Given the description of an element on the screen output the (x, y) to click on. 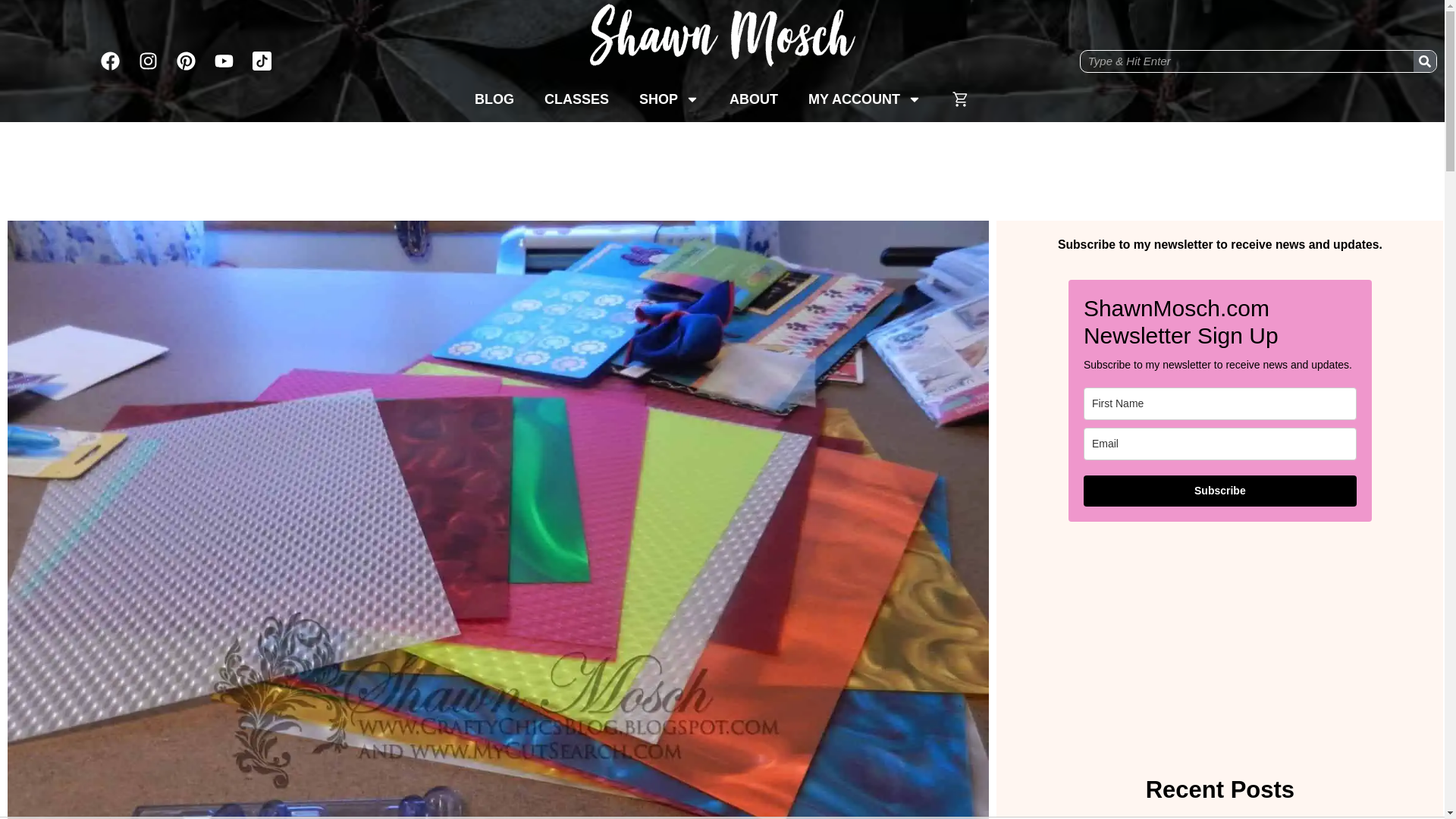
ABOUT (753, 98)
shawnmosch (722, 42)
CLASSES (576, 98)
MY ACCOUNT (864, 98)
SHOP (669, 98)
BLOG (494, 98)
